Given the description of an element on the screen output the (x, y) to click on. 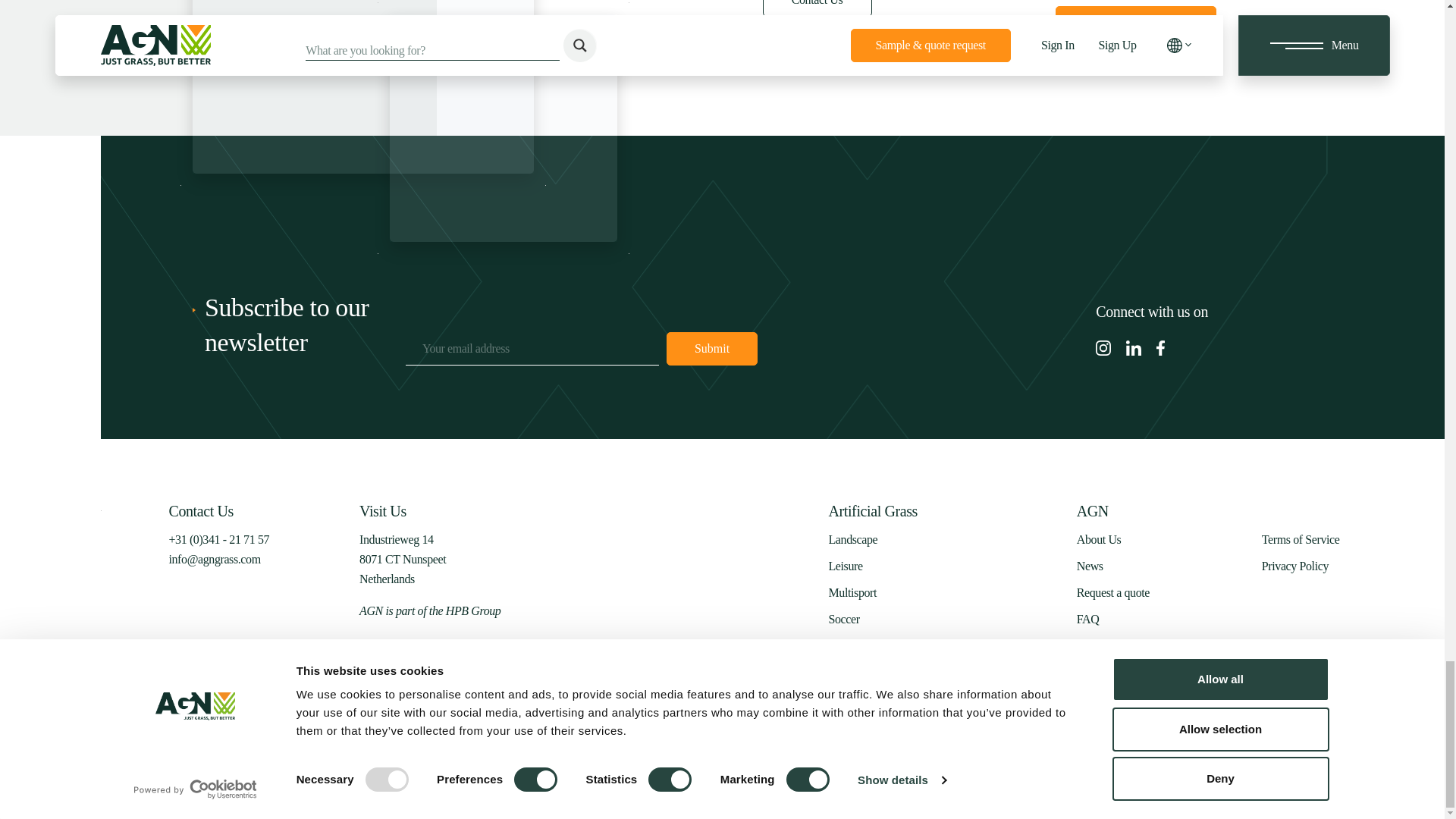
Submit (711, 348)
